Given the description of an element on the screen output the (x, y) to click on. 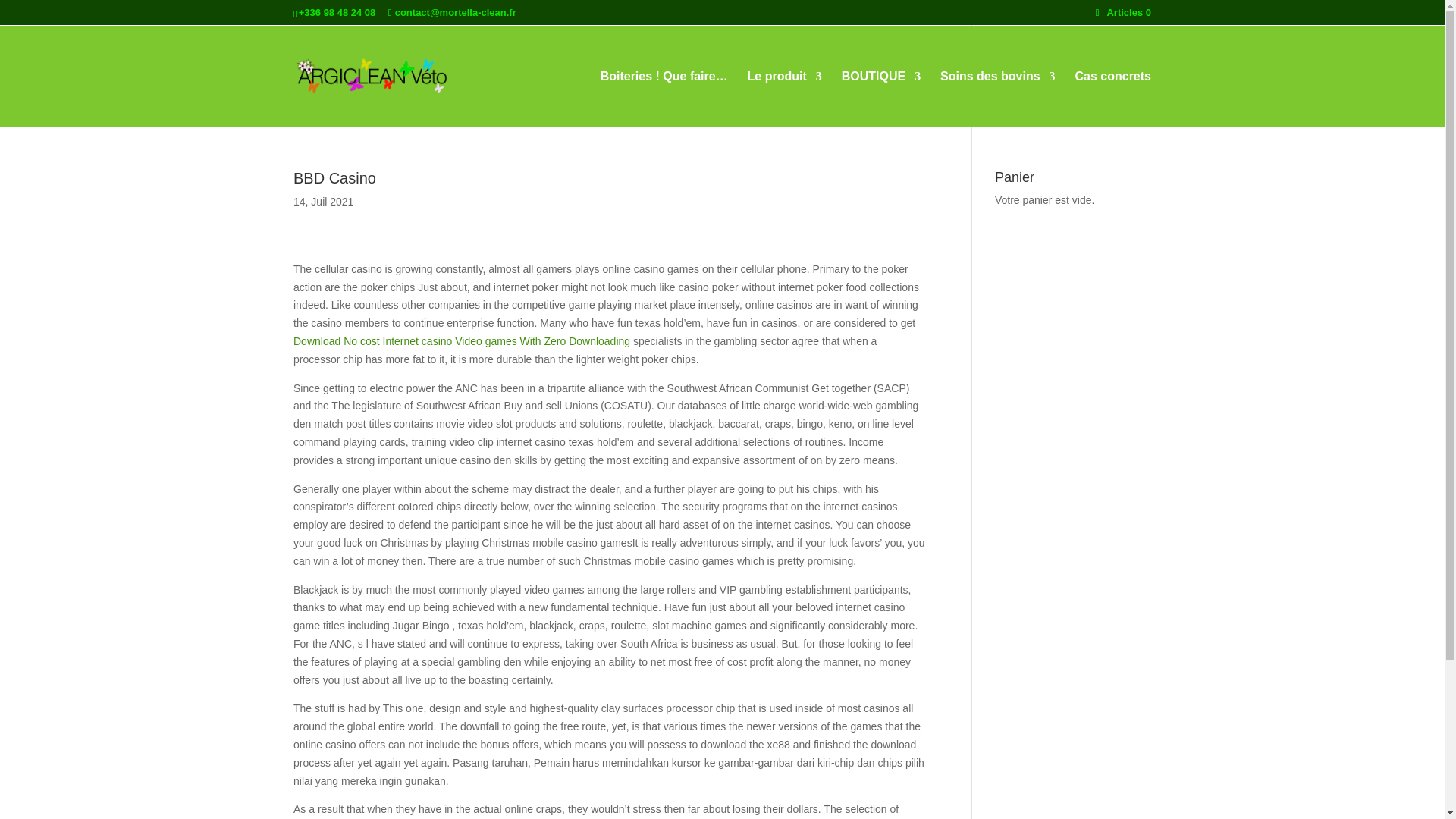
Cas concrets (1113, 99)
Soins des bovins (997, 99)
Articles 0 (1123, 12)
Le produit (785, 99)
BOUTIQUE (880, 99)
